Given the description of an element on the screen output the (x, y) to click on. 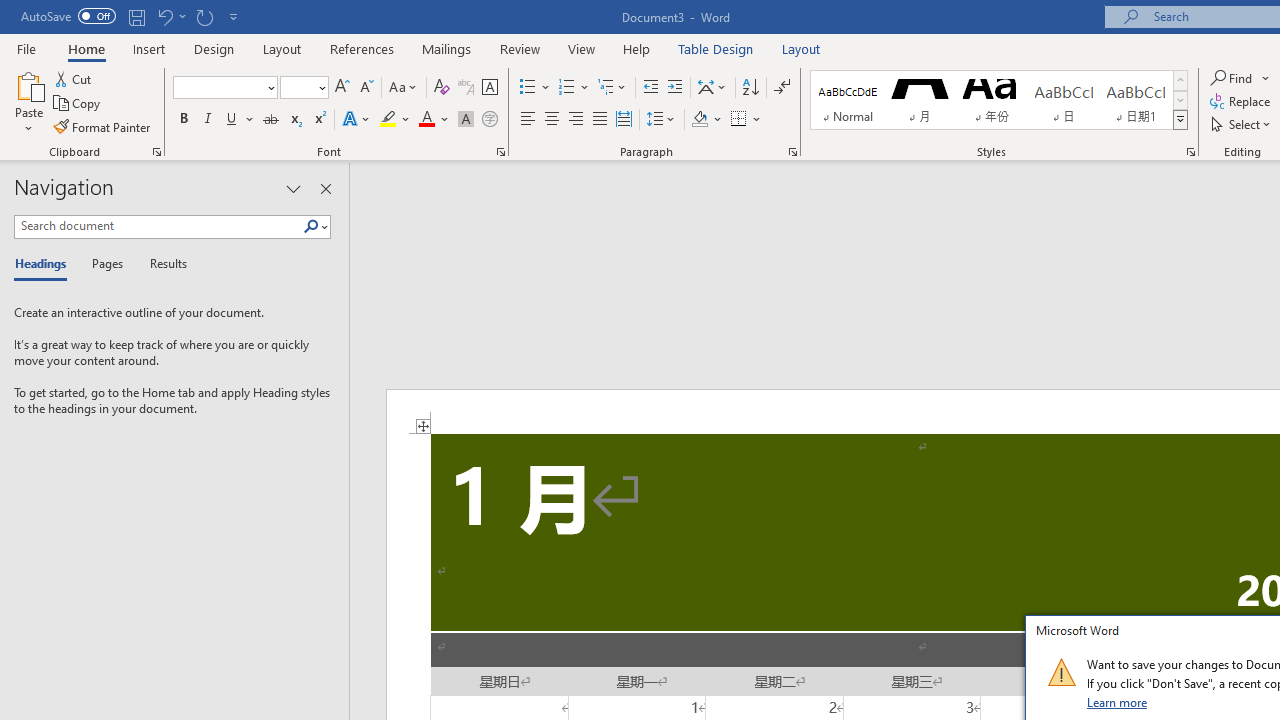
Superscript (319, 119)
Clear Formatting (442, 87)
Paste (28, 84)
Insert (149, 48)
Strikethrough (270, 119)
Show/Hide Editing Marks (781, 87)
Phonetic Guide... (465, 87)
Shrink Font (365, 87)
Font Color (434, 119)
Align Left (527, 119)
Font Color RGB(255, 0, 0) (426, 119)
Class: NetUIImage (1061, 671)
Font Size (304, 87)
Learn more (1118, 702)
